Given the description of an element on the screen output the (x, y) to click on. 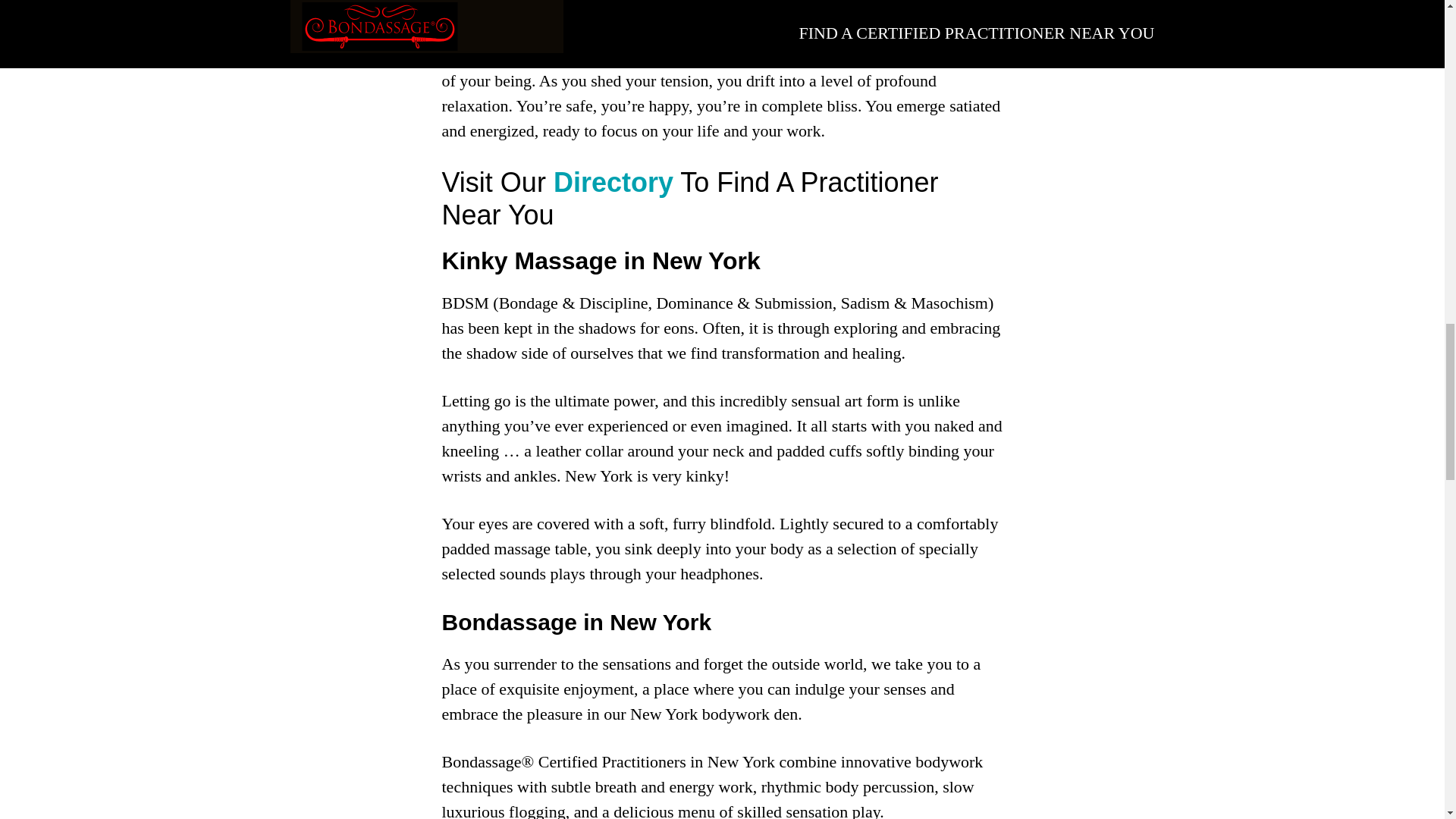
Directory (609, 182)
